Given the description of an element on the screen output the (x, y) to click on. 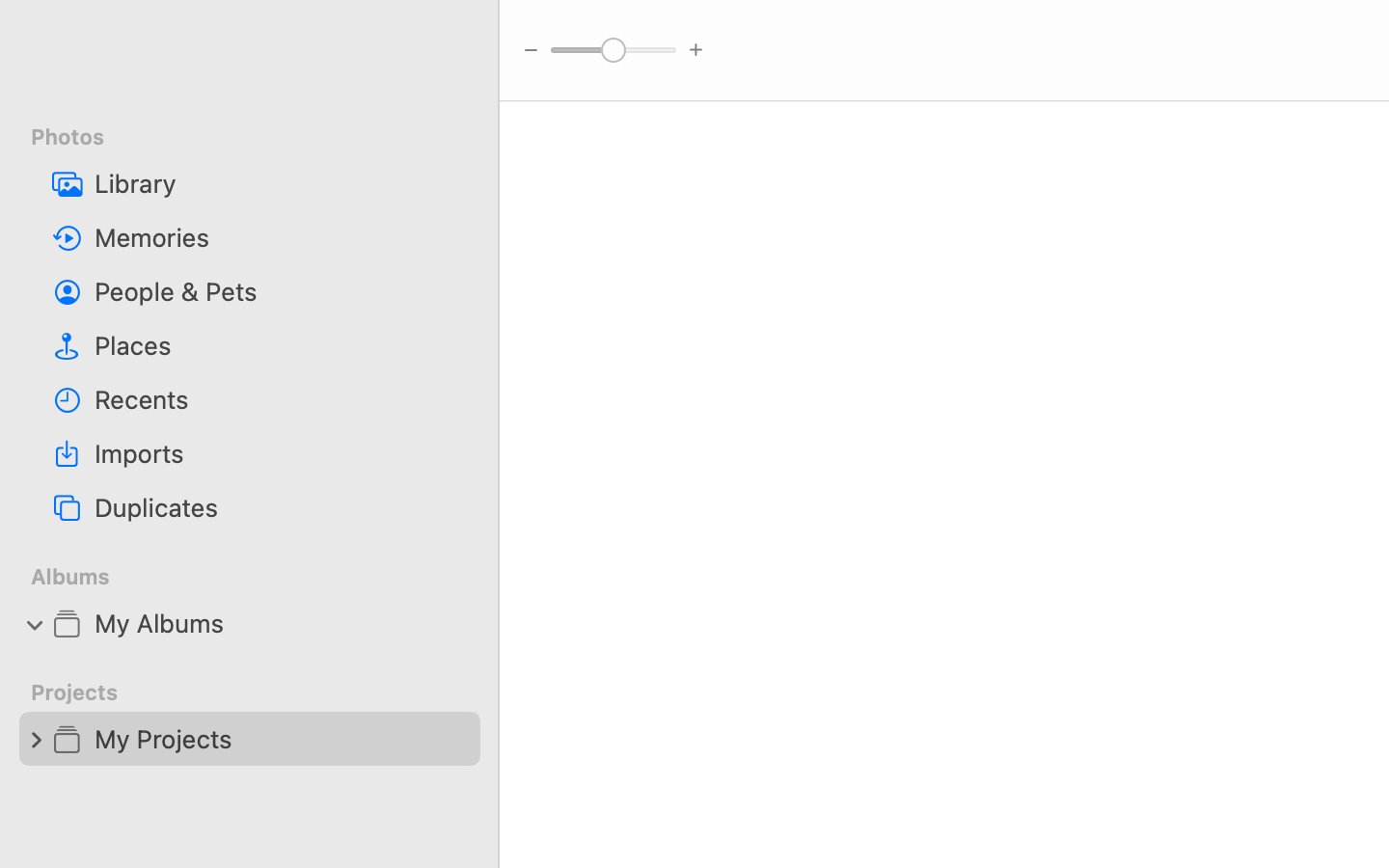
My Albums Element type: AXStaticText (279, 622)
Recents Element type: AXStaticText (279, 398)
Duplicates Element type: AXStaticText (279, 506)
Photos Element type: AXStaticText (261, 136)
Places Element type: AXStaticText (279, 344)
